Given the description of an element on the screen output the (x, y) to click on. 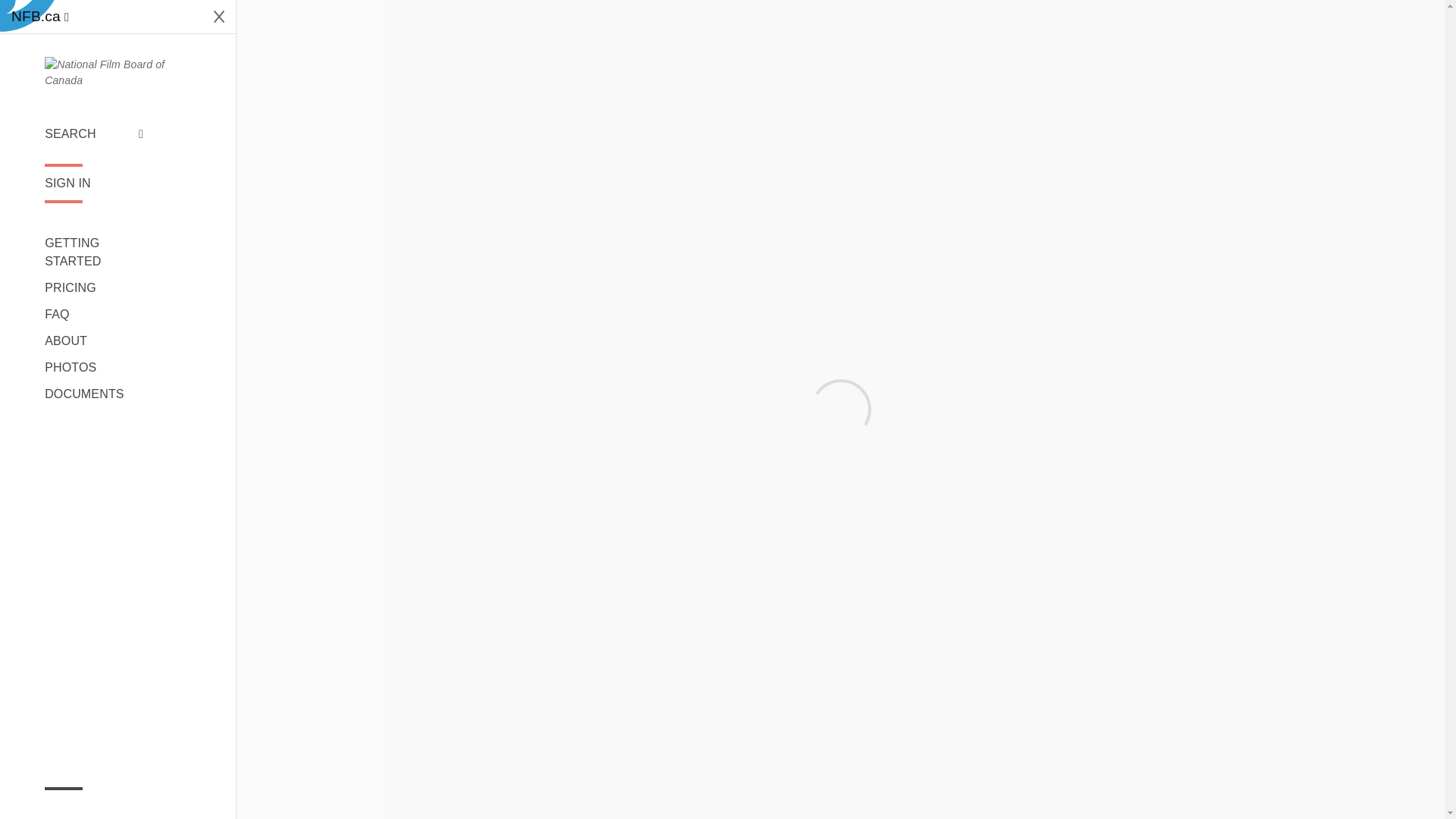
SIGN IN (93, 183)
NFB.ca (39, 16)
FAQ (93, 314)
DOCUMENTS (93, 393)
PRICING (93, 288)
SEARCH (93, 134)
ABOUT (93, 341)
Watch films on NFB.ca (39, 16)
GETTING STARTED (93, 252)
National Film Board of Canada (117, 72)
PHOTOS (93, 367)
